Given the description of an element on the screen output the (x, y) to click on. 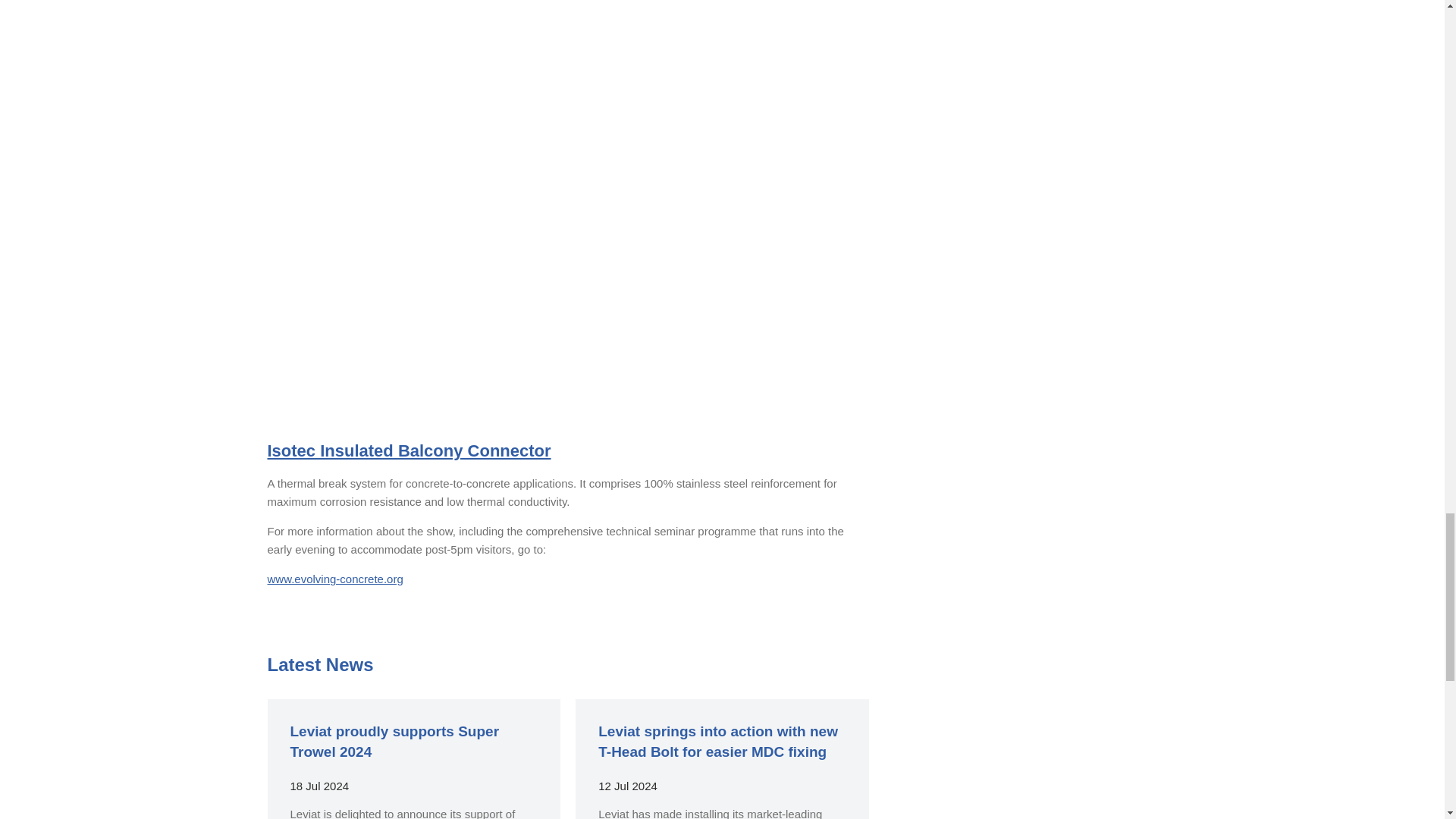
www.evolving-concrete.org (334, 578)
Leviat proudly supports Super Trowel 2024 (394, 741)
Latest News (319, 664)
Isotec Insulated Balcony Connector (408, 450)
